Given the description of an element on the screen output the (x, y) to click on. 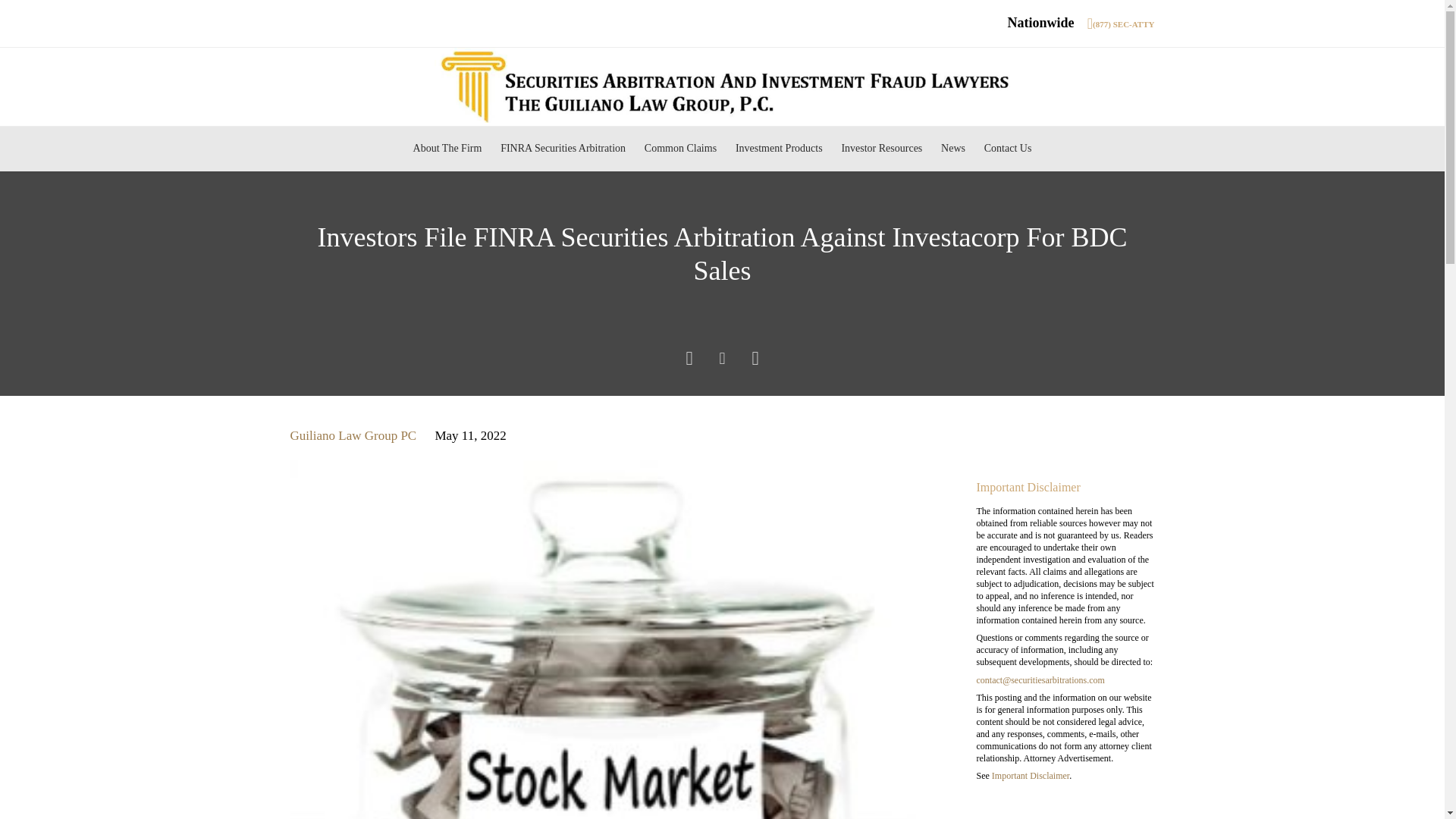
FINRA Securities Arbitration (563, 148)
About The Firm (446, 148)
Common Claims (679, 148)
Posts by Guiliano Law Group PC (352, 435)
